Given the description of an element on the screen output the (x, y) to click on. 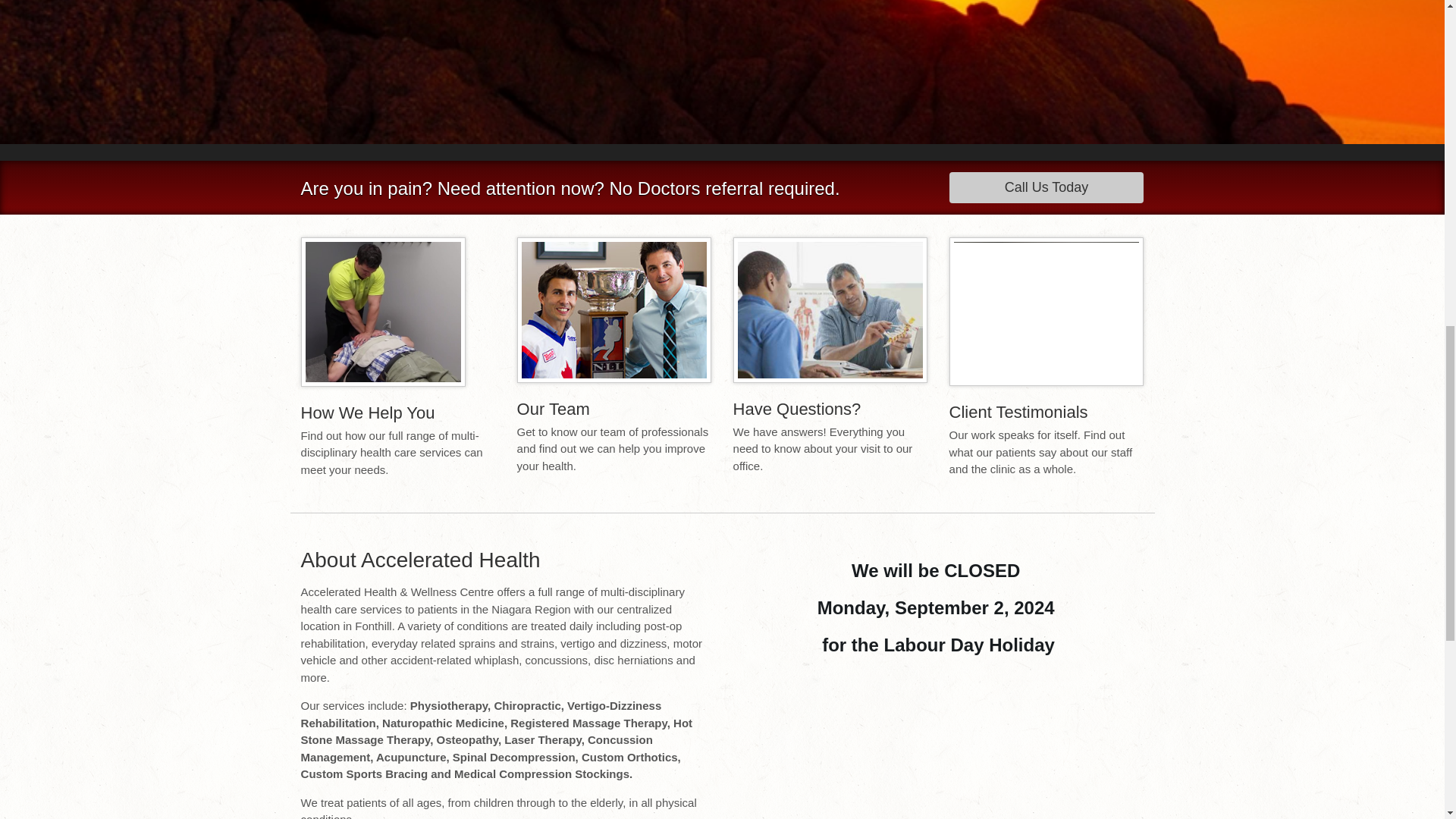
Call Us Today (1046, 187)
Have Questions? (797, 408)
Our Team (552, 408)
How We Help You (368, 412)
